Given the description of an element on the screen output the (x, y) to click on. 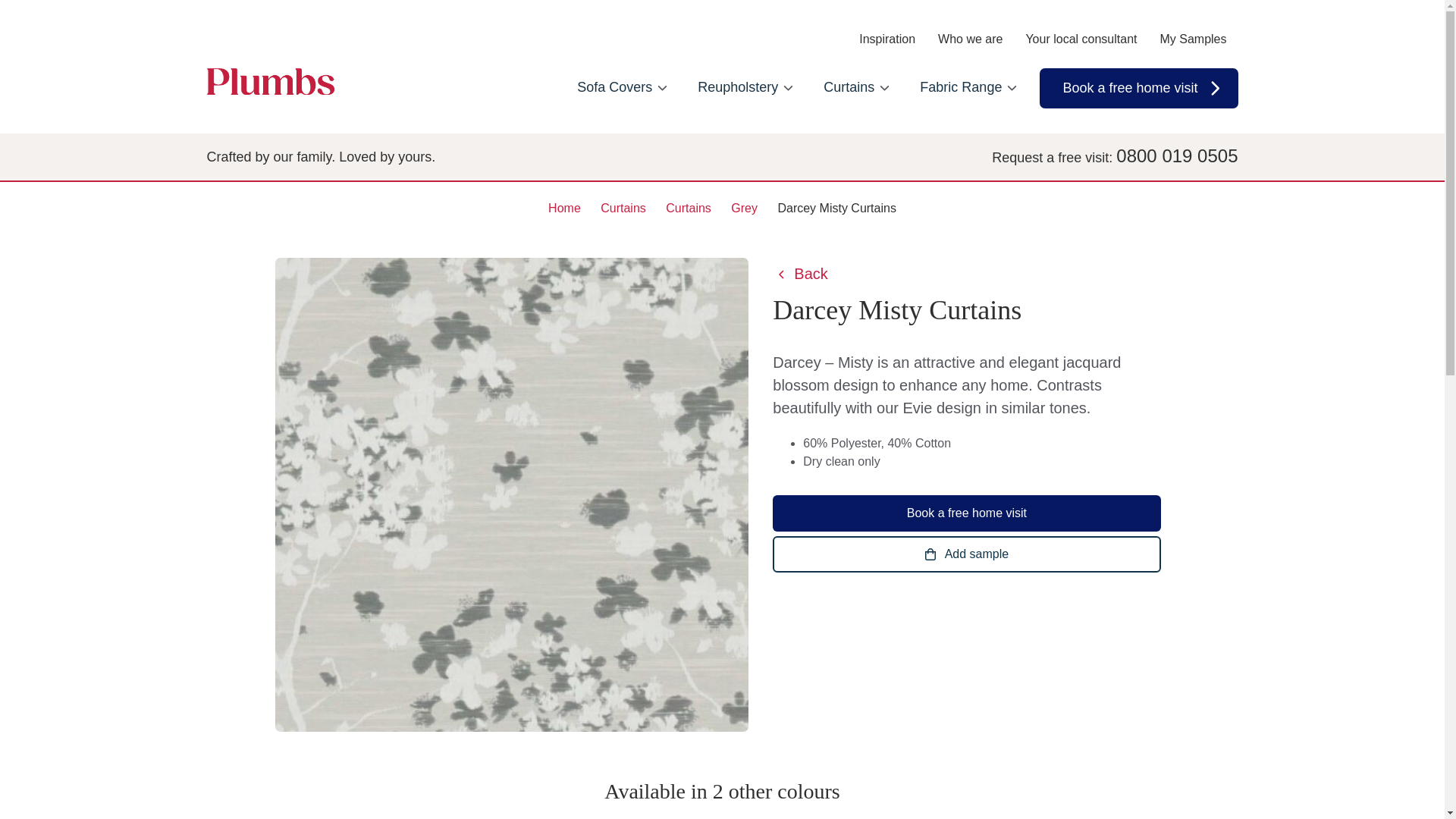
Inspiration (887, 40)
Who we are (970, 40)
Sofa Covers (621, 87)
Curtains (856, 87)
Plumbs (269, 81)
Your local consultant (1081, 40)
Reupholstery (745, 87)
My Samples (1191, 40)
